Given the description of an element on the screen output the (x, y) to click on. 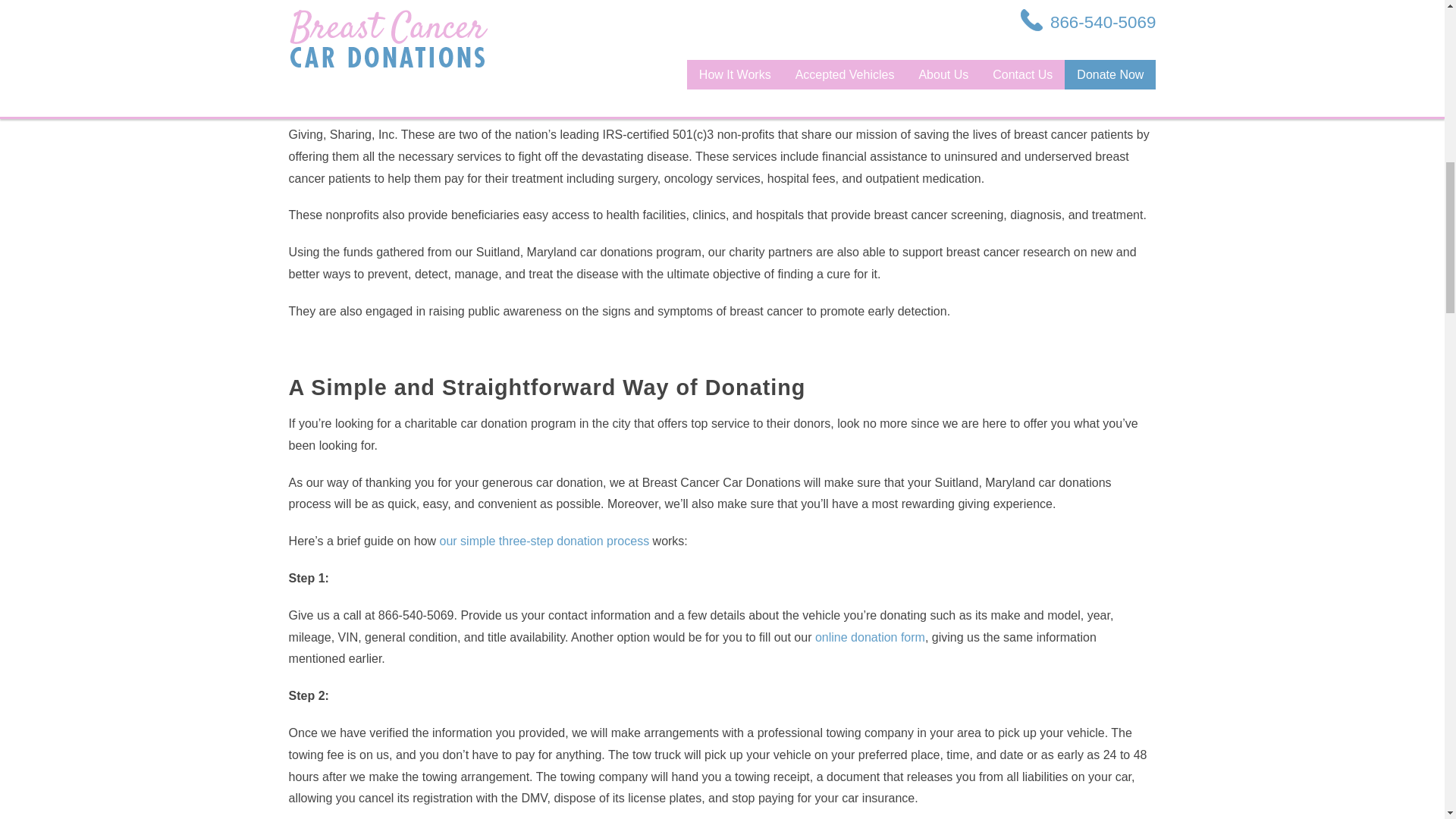
Breast Cancer Car Donations (454, 53)
Pexels License (500, 0)
Anna Galimova (380, 0)
Photo (304, 0)
